Given the description of an element on the screen output the (x, y) to click on. 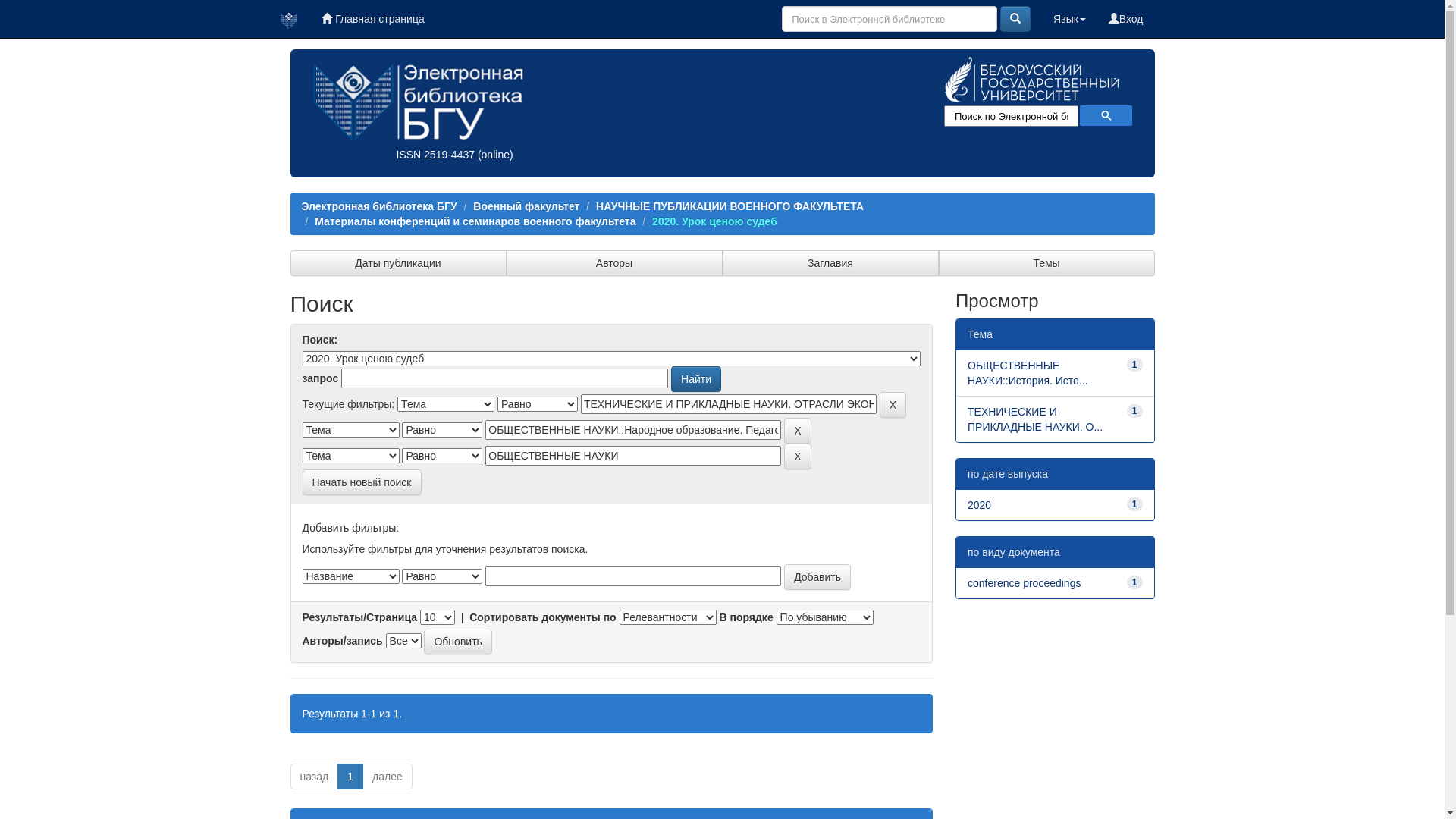
X Element type: text (797, 456)
X Element type: text (797, 430)
conference proceedings Element type: text (1023, 583)
2020 Element type: text (979, 504)
X Element type: text (892, 404)
ISSN 2519-4437 Element type: text (434, 154)
